Given the description of an element on the screen output the (x, y) to click on. 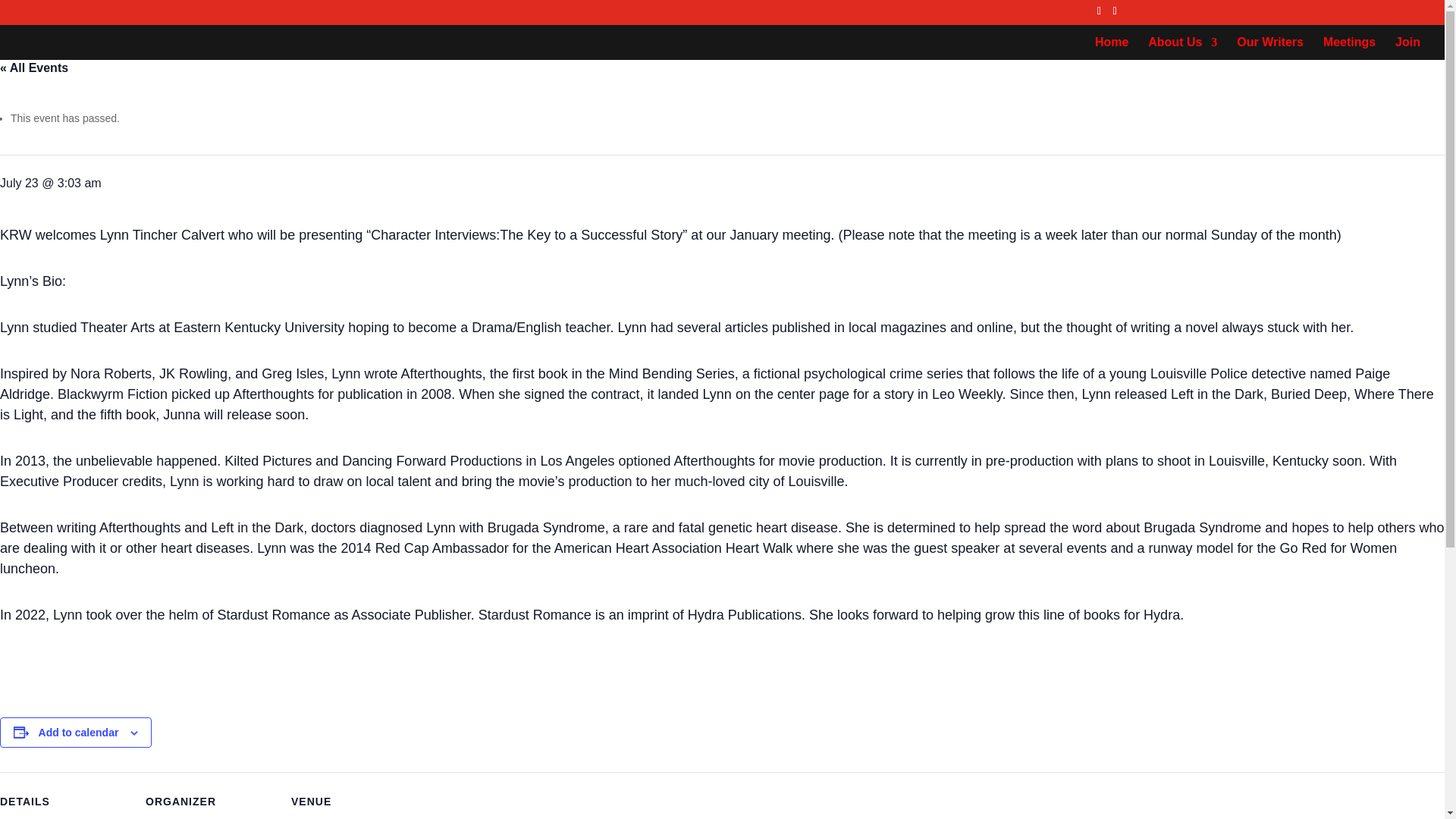
Home (1111, 47)
Our Writers (1269, 47)
About Us (1182, 47)
Meetings (1349, 47)
Add to calendar (79, 732)
Join (1407, 47)
